Given the description of an element on the screen output the (x, y) to click on. 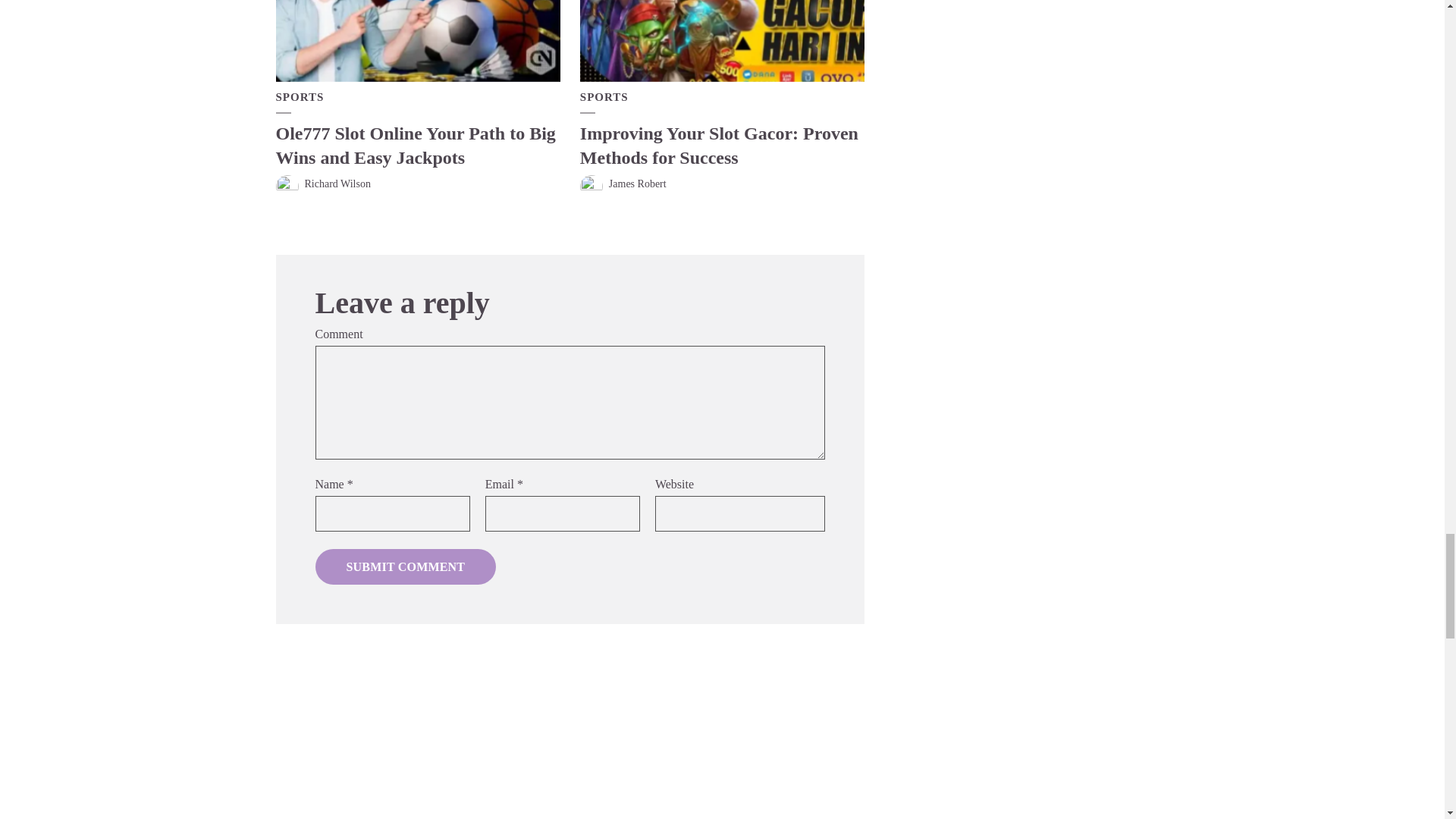
Submit Comment (405, 566)
